Given the description of an element on the screen output the (x, y) to click on. 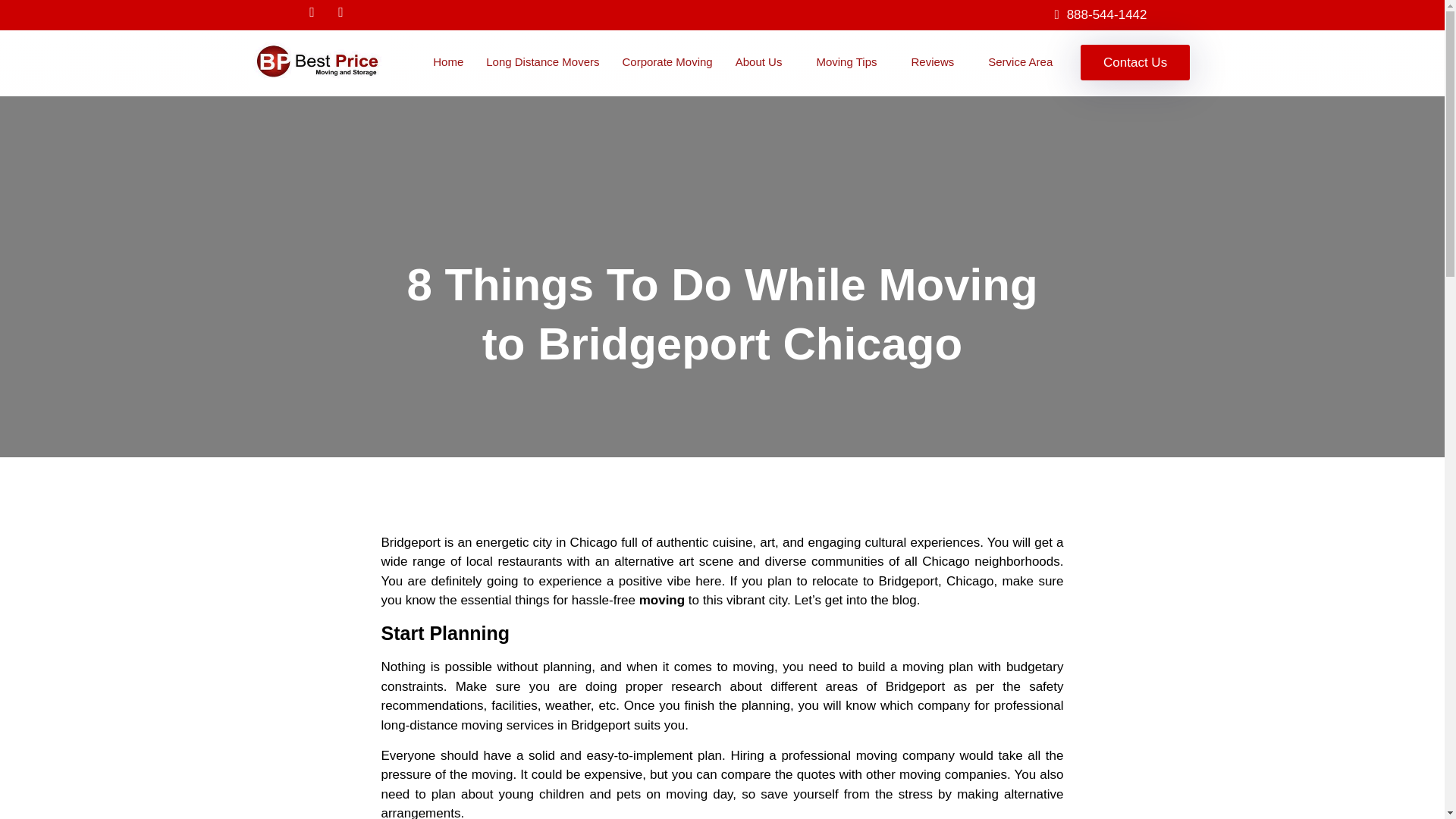
888-544-1442 (1100, 14)
Long Distance Movers (542, 62)
About Us (764, 62)
Contact Us (1134, 61)
Reviews (937, 62)
Corporate Moving (666, 62)
Service Area (1020, 62)
Moving Tips (852, 62)
